Given the description of an element on the screen output the (x, y) to click on. 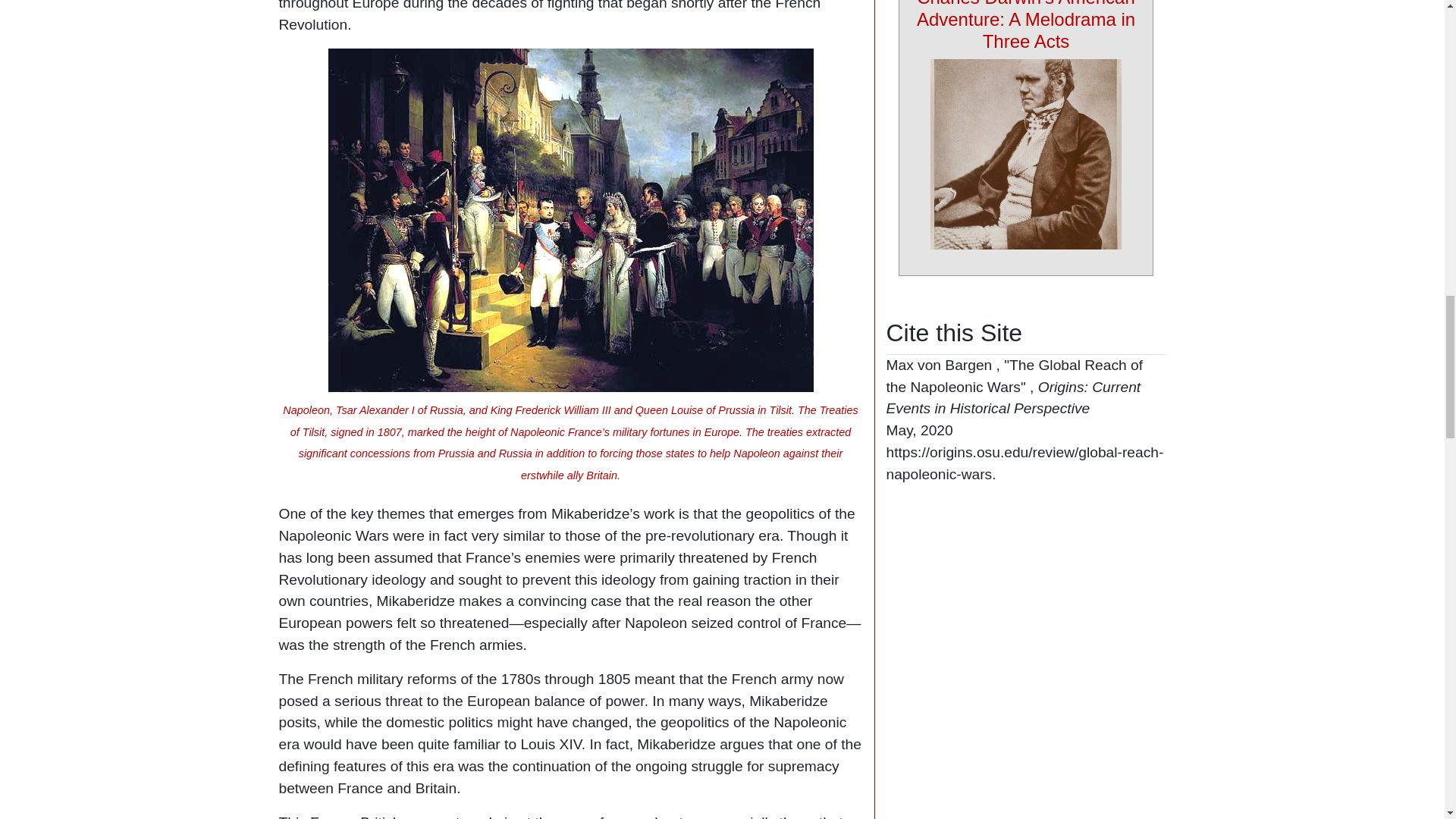
British scientist Charles Darwin. (1025, 154)
